Given the description of an element on the screen output the (x, y) to click on. 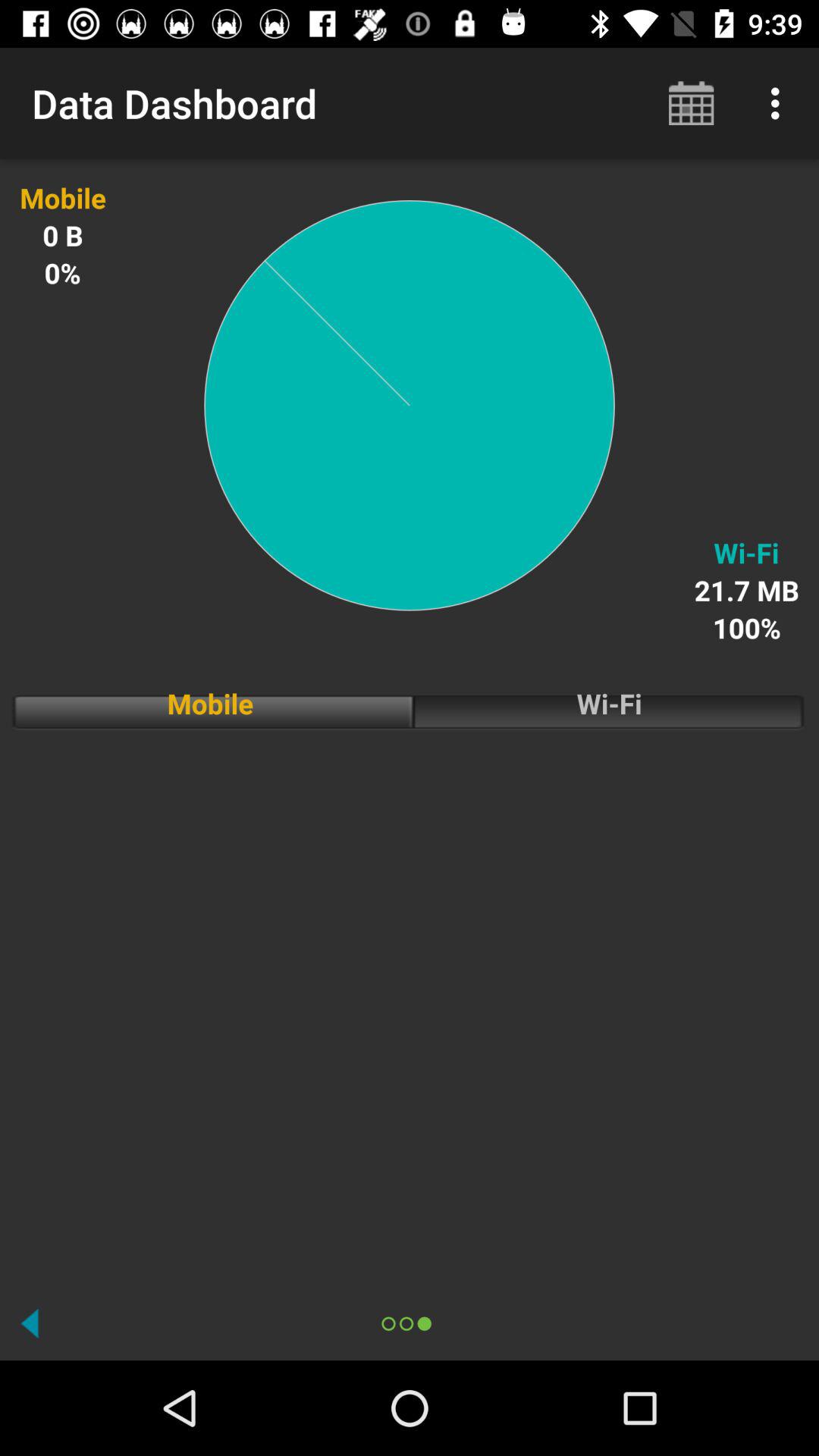
tap the icon at the bottom left corner (29, 1323)
